Given the description of an element on the screen output the (x, y) to click on. 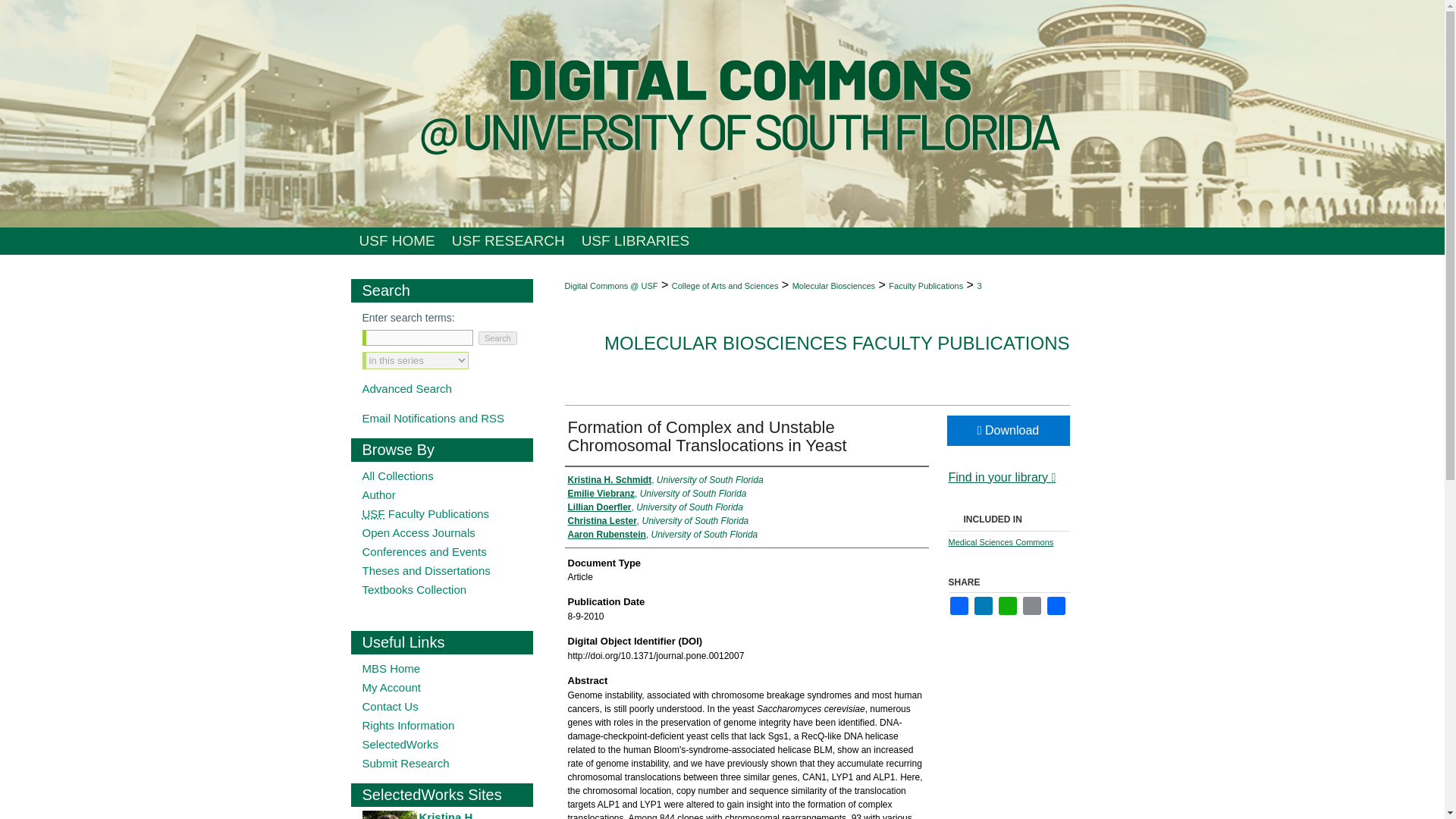
Aaron Rubenstein, University of South Florida (662, 534)
Lillian Doerfler, University of South Florida (654, 507)
USF LIBRARIES (635, 240)
USF HOME (396, 240)
USF Libraries (635, 240)
Advanced Search (406, 388)
Christina Lester, University of South Florida (657, 520)
Medical Sciences Commons (999, 542)
LinkedIn (982, 606)
Medical Sciences Commons (999, 542)
Molecular Biosciences (833, 285)
Search (497, 337)
Emilie Viebranz, University of South Florida (656, 493)
Browse by Collections (447, 475)
